Given the description of an element on the screen output the (x, y) to click on. 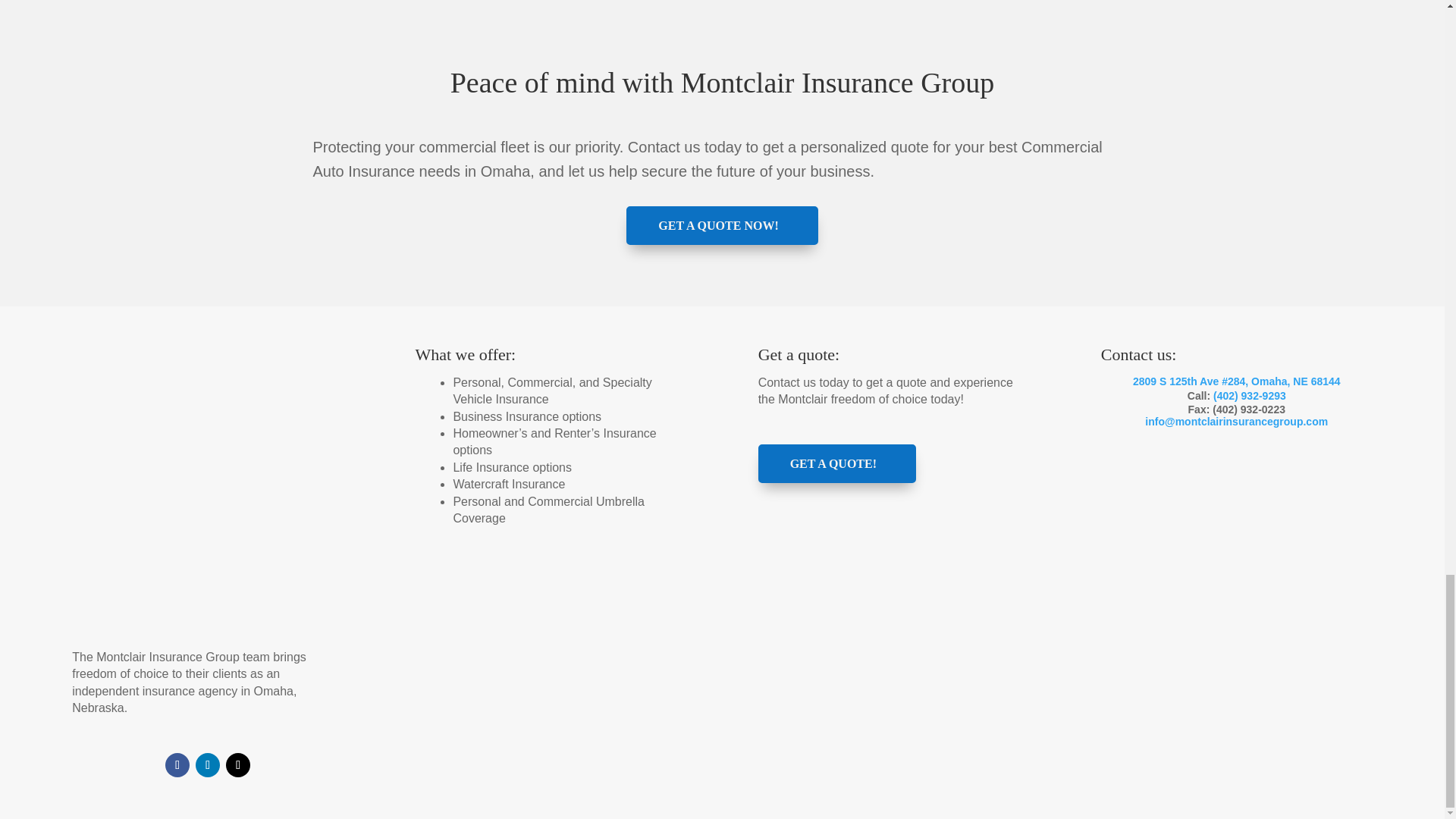
Follow on X (237, 764)
Follow on Facebook (177, 764)
GET A QUOTE! (836, 463)
Follow on LinkedIn (207, 764)
Click to call! (1248, 395)
GET A QUOTE NOW! (721, 225)
